Given the description of an element on the screen output the (x, y) to click on. 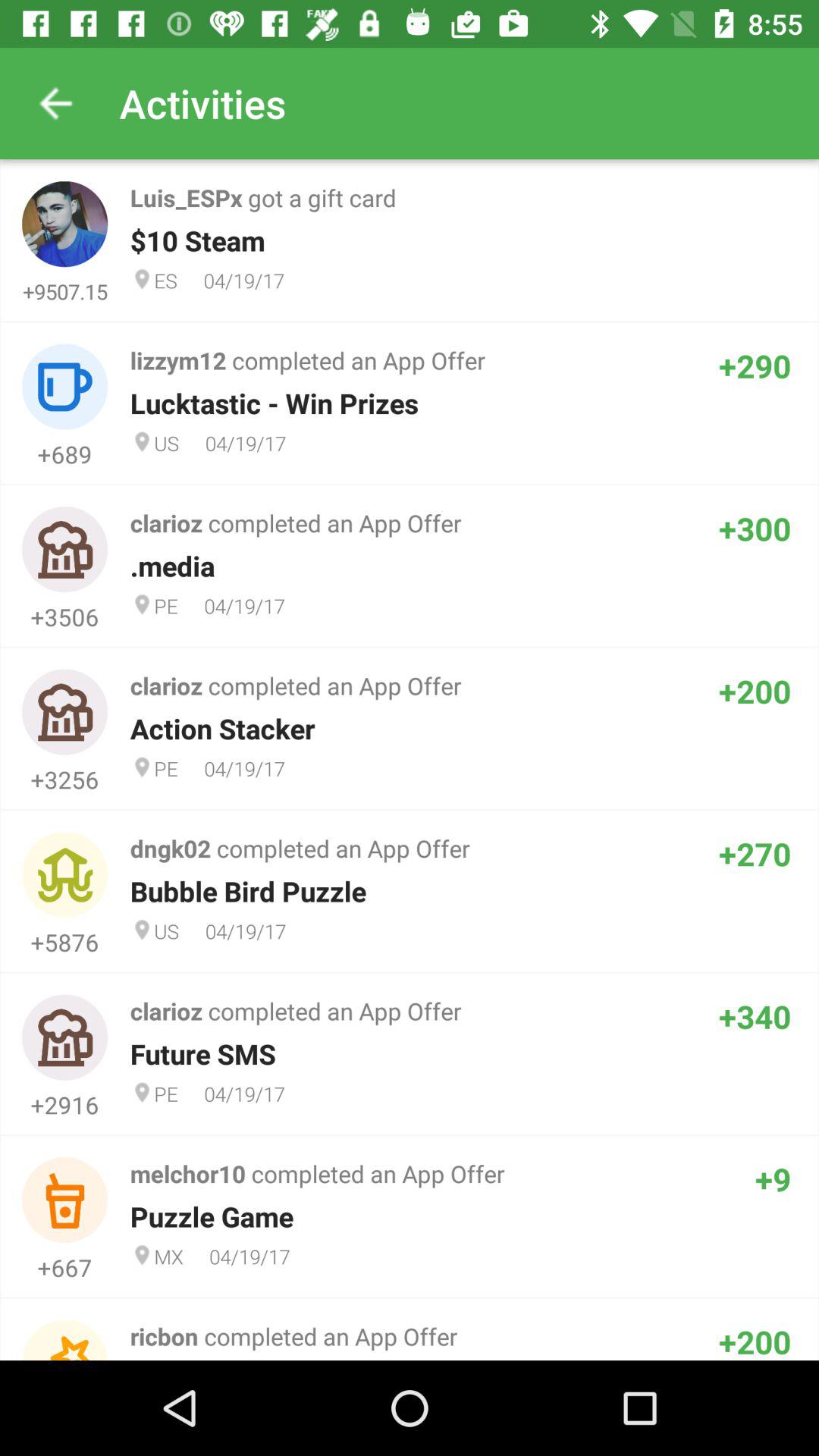
tap the item next to the activities item (55, 103)
